Given the description of an element on the screen output the (x, y) to click on. 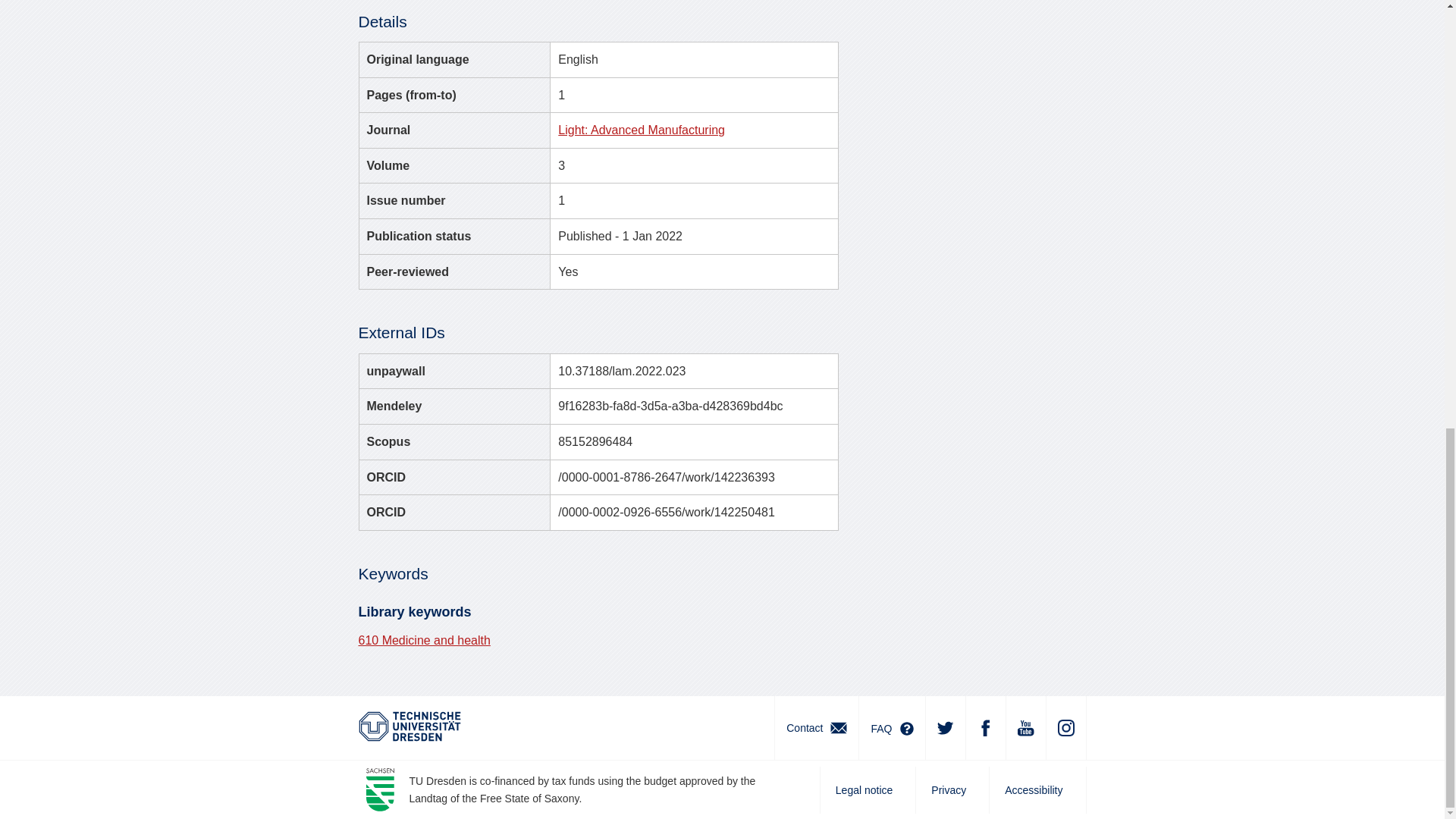
Contact (816, 728)
Accessibility (1037, 790)
FAQ (891, 728)
Privacy (951, 790)
Legal notice (867, 790)
Light: Advanced Manufacturing (641, 129)
610 Medicine and health (423, 640)
